Given the description of an element on the screen output the (x, y) to click on. 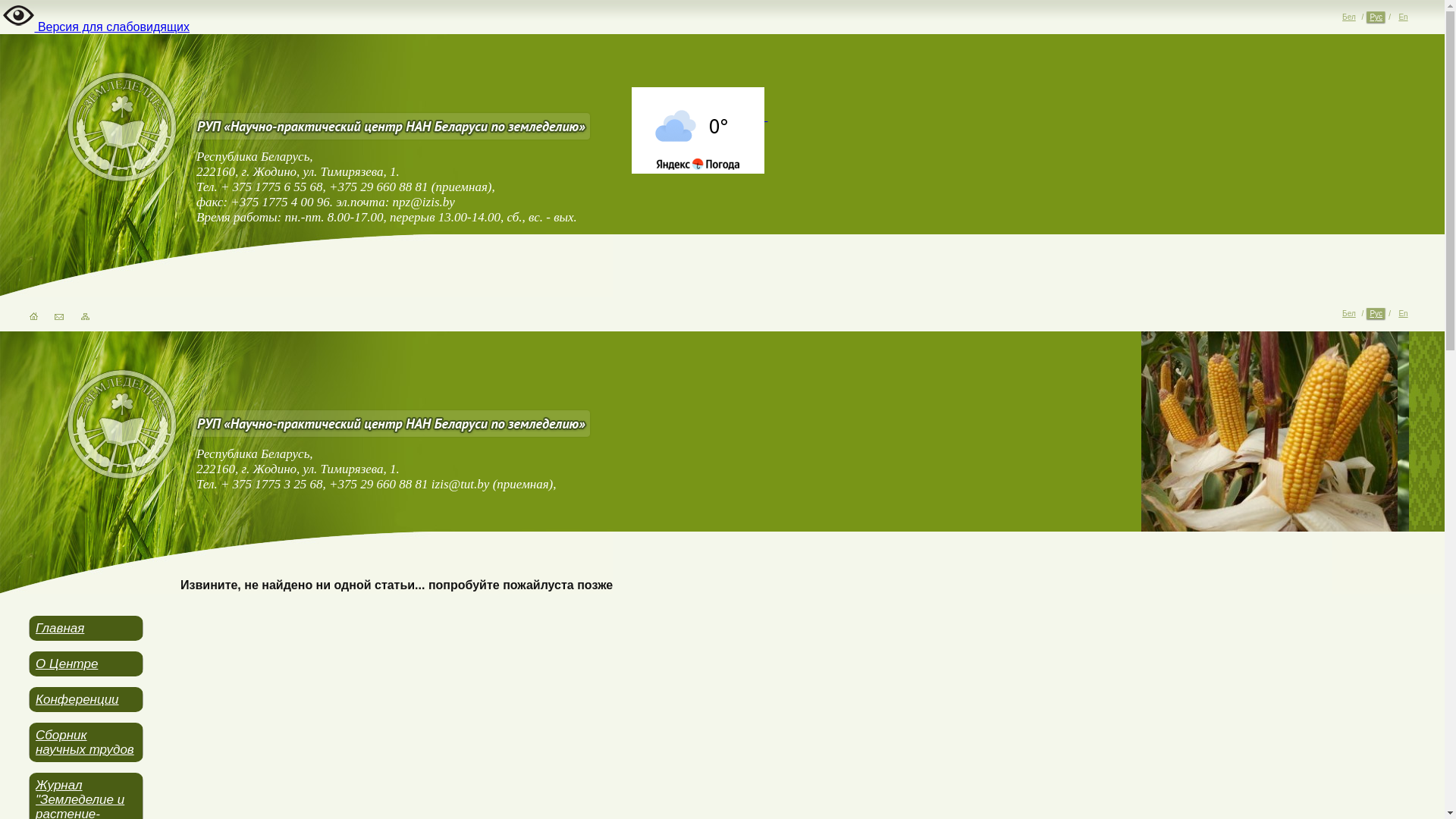
En Element type: text (1403, 17)
En Element type: text (1403, 313)
